Given the description of an element on the screen output the (x, y) to click on. 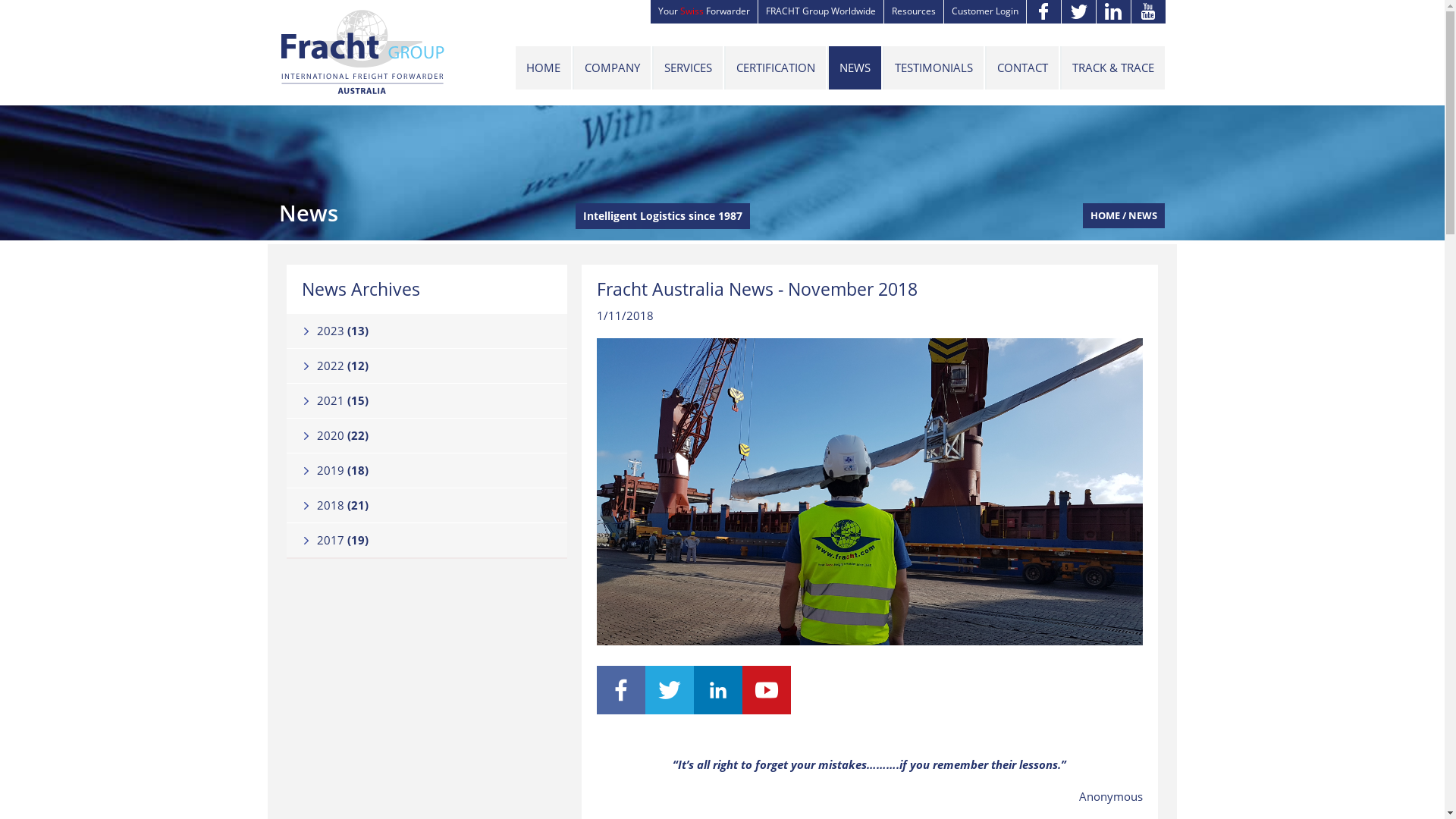
Customer Login Element type: text (984, 11)
2018 (21) Element type: text (426, 505)
2021 (15) Element type: text (426, 400)
TRACK & TRACE Element type: text (1112, 67)
2023 (13) Element type: text (426, 330)
2019 (18) Element type: text (426, 470)
FRACHT Group Worldwide Element type: text (820, 11)
Fracht LinkedIn Element type: hover (717, 708)
SERVICES Element type: text (687, 67)
Image title here... Element type: hover (869, 491)
2022 (12) Element type: text (426, 365)
HOME Element type: text (1105, 215)
Resources Element type: text (913, 11)
CERTIFICATION Element type: text (774, 67)
2020 (22) Element type: text (426, 435)
CONTACT Element type: text (1021, 67)
Fracht Twitter Element type: hover (669, 708)
HOME Element type: text (543, 67)
TESTIMONIALS Element type: text (932, 67)
COMPANY Element type: text (611, 67)
NEWS Element type: text (854, 67)
2017 (19) Element type: text (426, 540)
Your Swiss Forwarder Element type: text (703, 11)
Fracht YouTube Element type: hover (766, 708)
